Given the description of an element on the screen output the (x, y) to click on. 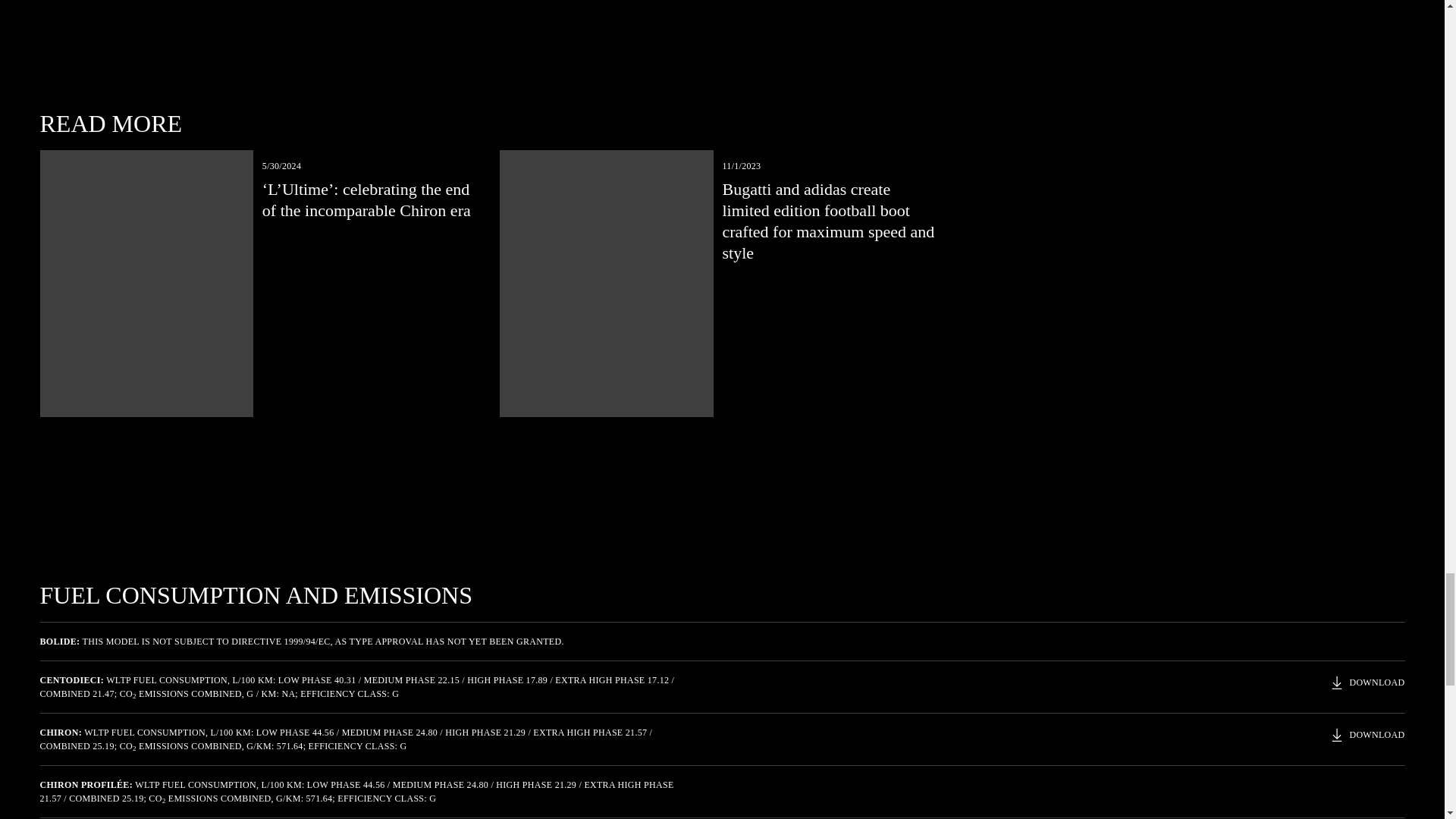
DOWNLOAD (1366, 682)
DOWNLOAD (1366, 734)
